Given the description of an element on the screen output the (x, y) to click on. 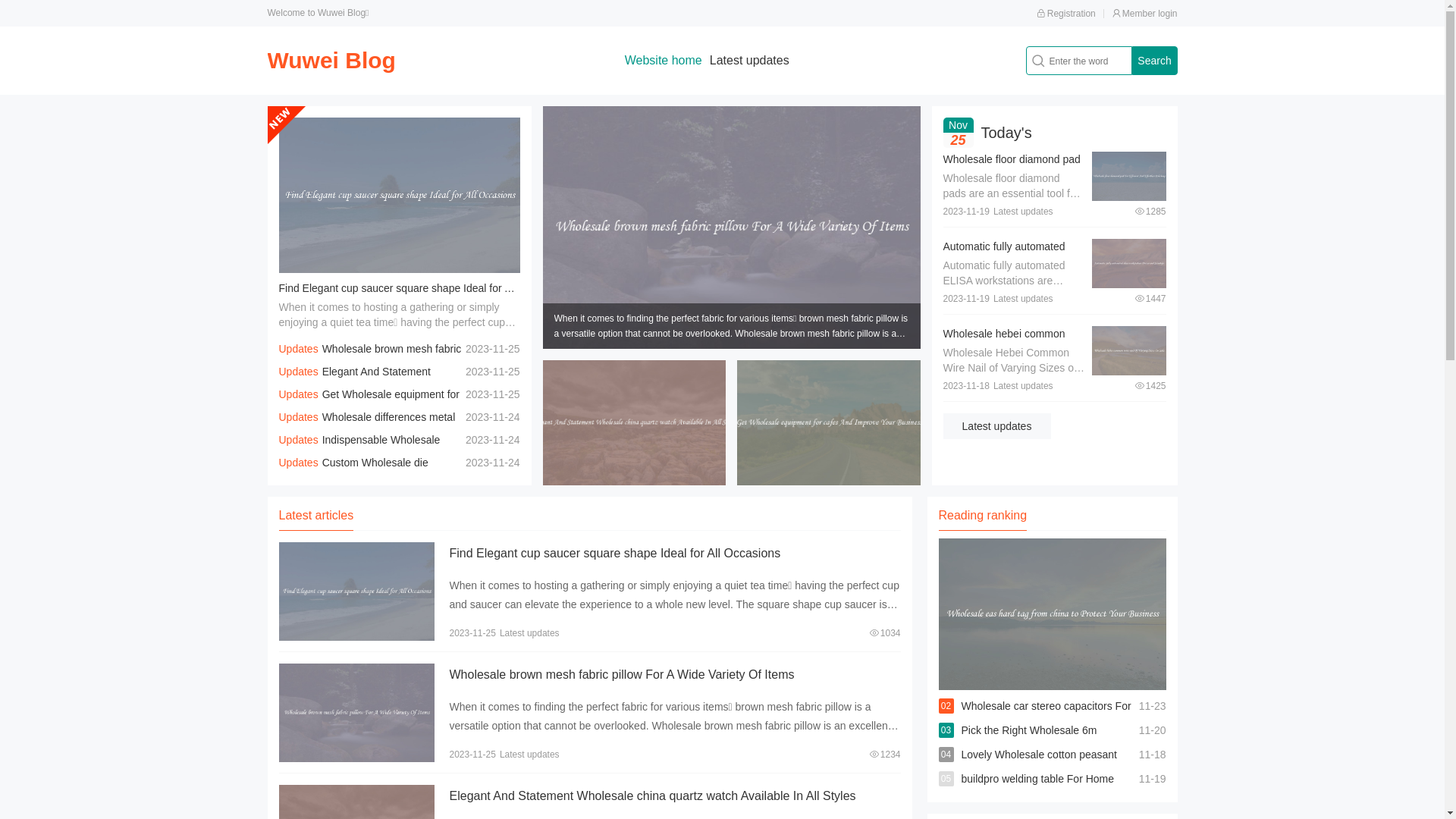
Wuwei Blog Element type: text (330, 59)
Latest updates Element type: text (997, 426)
Pick the Right Wholesale 6m platform height skylift Element type: text (1029, 742)
Get Wholesale equipment for cafes And Improve Your Business Element type: text (369, 405)
Wholesale differences metal ring For Various Needs On Sale Element type: text (367, 428)
Website home Element type: text (663, 59)
Latest updates Element type: text (749, 59)
Wholesale car stereo capacitors For Circuits And Devices Element type: text (1046, 717)
Member login Element type: text (1144, 13)
Wholesale hebei common wire nail Of Varying Sizes On Sale Element type: text (1011, 348)
Find Elegant cup saucer square shape Ideal for All Occasions Element type: text (614, 552)
buildpro welding table For Home And Industrial Use Element type: text (1037, 790)
Registration Element type: text (1065, 13)
Find Elegant cup saucer square shape Ideal for All Occasions Element type: text (423, 288)
Search Element type: text (1153, 60)
